Given the description of an element on the screen output the (x, y) to click on. 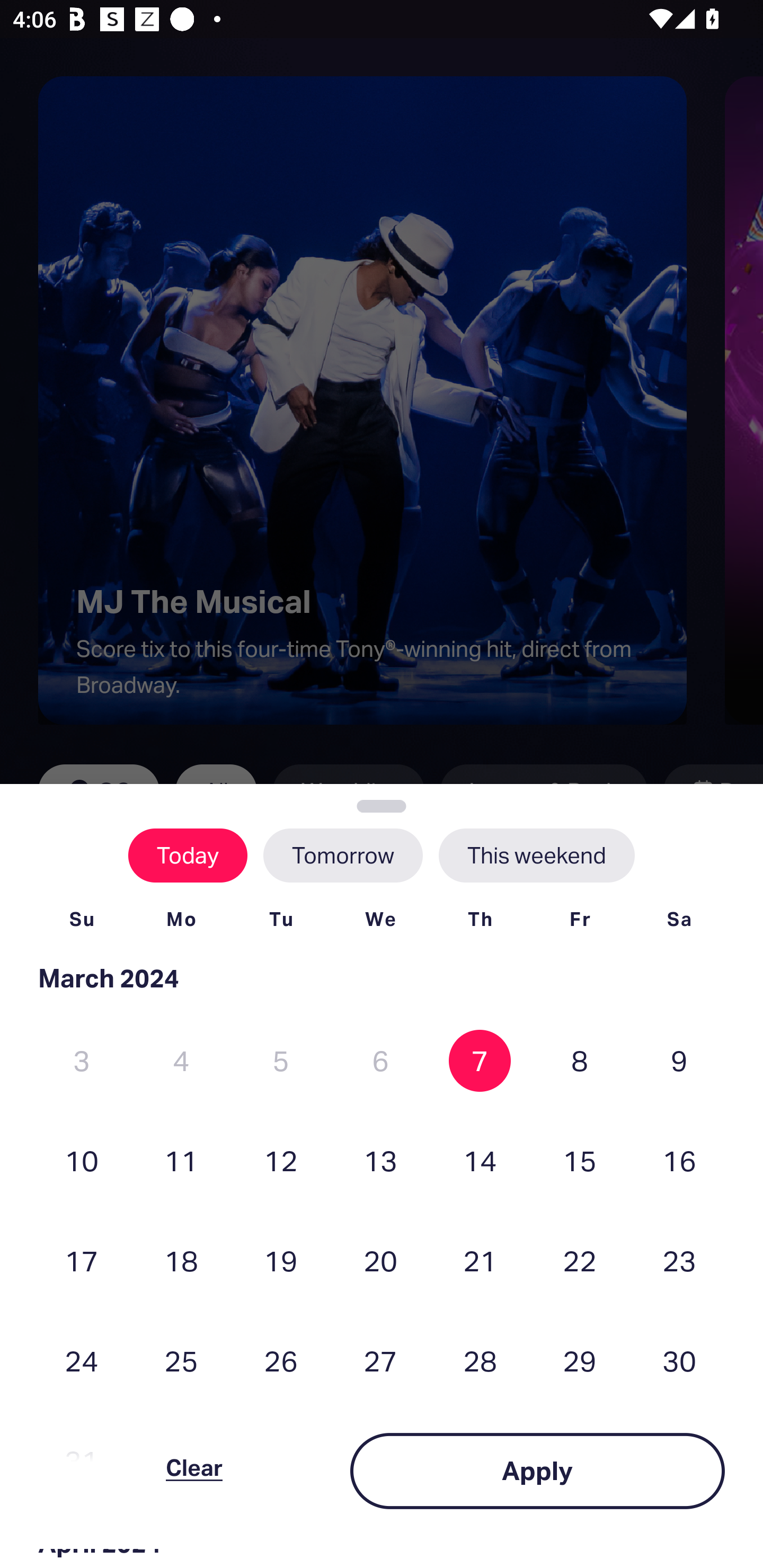
Today (187, 854)
Tomorrow (342, 854)
This weekend (536, 854)
3 (81, 1060)
4 (181, 1060)
5 (280, 1060)
6 (380, 1060)
7 (479, 1060)
8 (579, 1060)
9 (678, 1060)
10 (81, 1160)
11 (181, 1160)
12 (280, 1160)
13 (380, 1160)
14 (479, 1160)
15 (579, 1160)
16 (678, 1160)
17 (81, 1260)
18 (181, 1260)
19 (280, 1260)
20 (380, 1260)
21 (479, 1260)
22 (579, 1260)
23 (678, 1260)
24 (81, 1360)
25 (181, 1360)
26 (280, 1360)
27 (380, 1360)
28 (479, 1360)
29 (579, 1360)
30 (678, 1360)
Clear (194, 1470)
Apply (537, 1470)
